Given the description of an element on the screen output the (x, y) to click on. 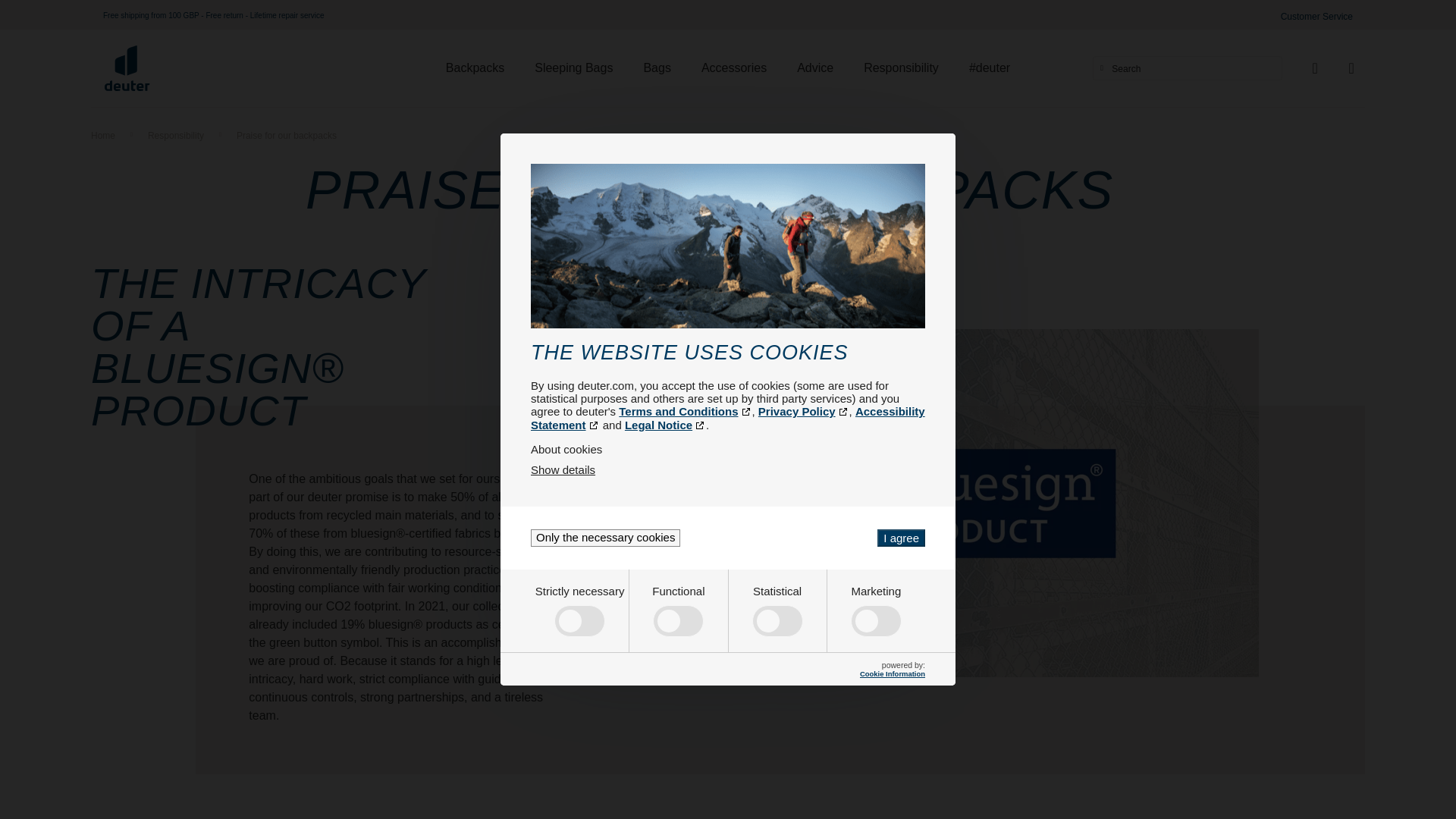
Privacy Policy (803, 410)
opens in a new tab (803, 410)
Show details (563, 469)
Terms and Conditions (684, 410)
opens in a new tab (727, 417)
Accessibility Statement (727, 417)
Deuter Logo (126, 67)
opens in a new tab (684, 410)
opens in a new tab (665, 424)
About cookies (727, 449)
